Given the description of an element on the screen output the (x, y) to click on. 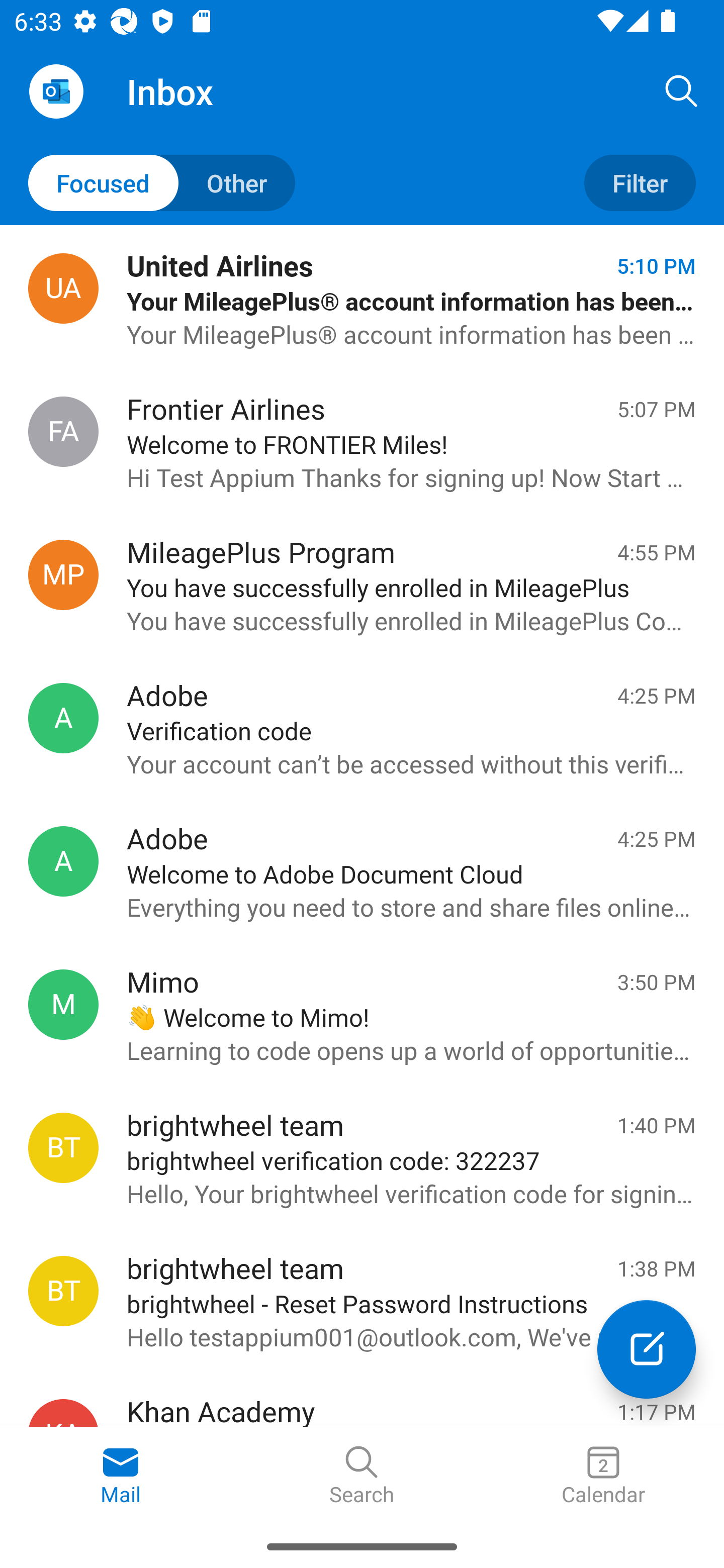
Search (681, 90)
Open Navigation Drawer (55, 91)
Toggle to other mails (161, 183)
Filter (639, 183)
United Airlines, account-noreply@united.com (63, 288)
MileagePlus Program, account-noreply@united.com (63, 574)
Adobe, message@adobe.com (63, 717)
Adobe, message@adobe.com (63, 861)
Mimo, support@getmimo.com (63, 1004)
brightwheel team, recovery@mybrightwheel.com (63, 1147)
brightwheel team, recovery@mybrightwheel.com (63, 1290)
Compose (646, 1348)
Search (361, 1475)
Calendar (603, 1475)
